Given the description of an element on the screen output the (x, y) to click on. 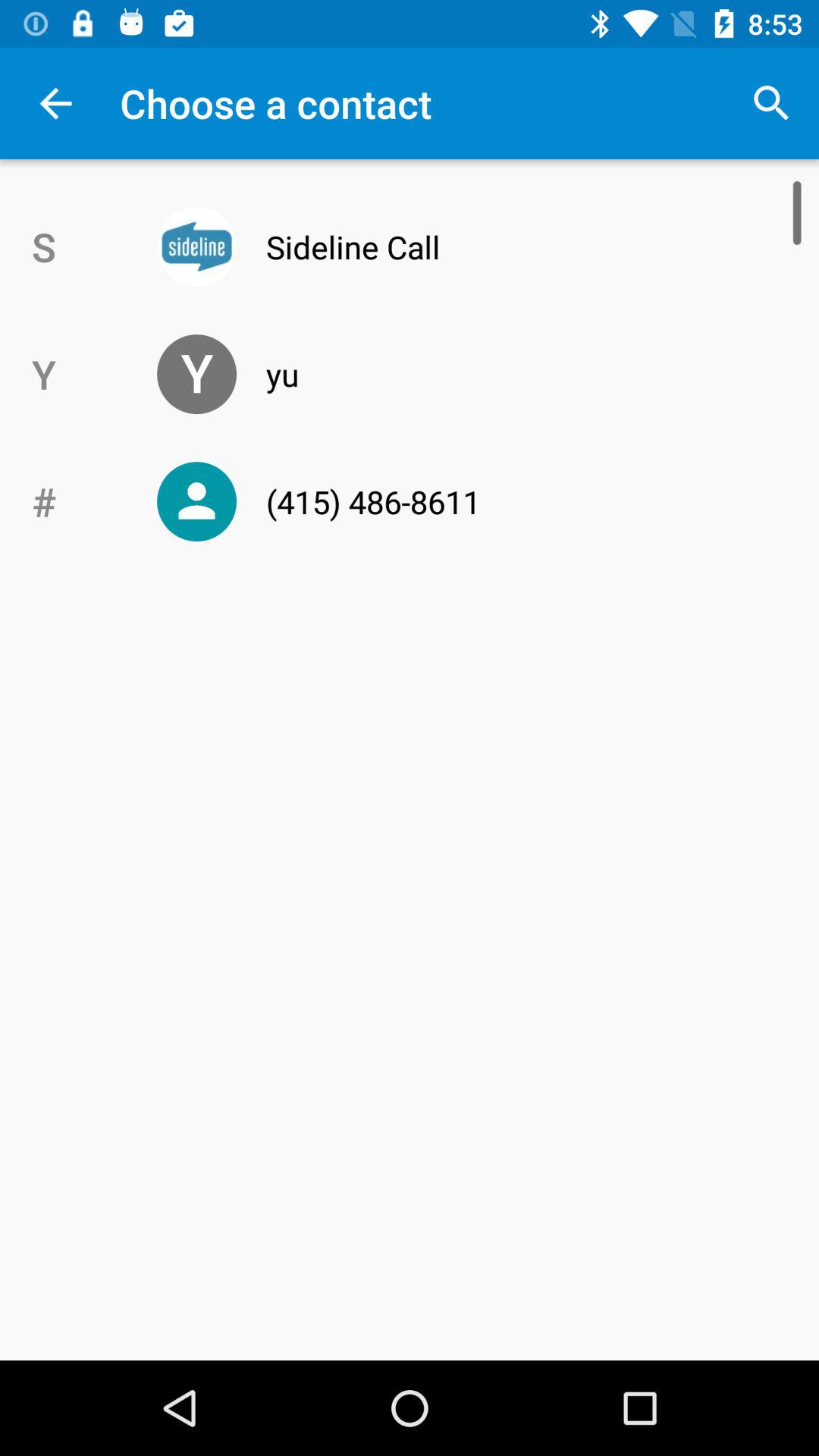
launch the app above the s icon (55, 103)
